Given the description of an element on the screen output the (x, y) to click on. 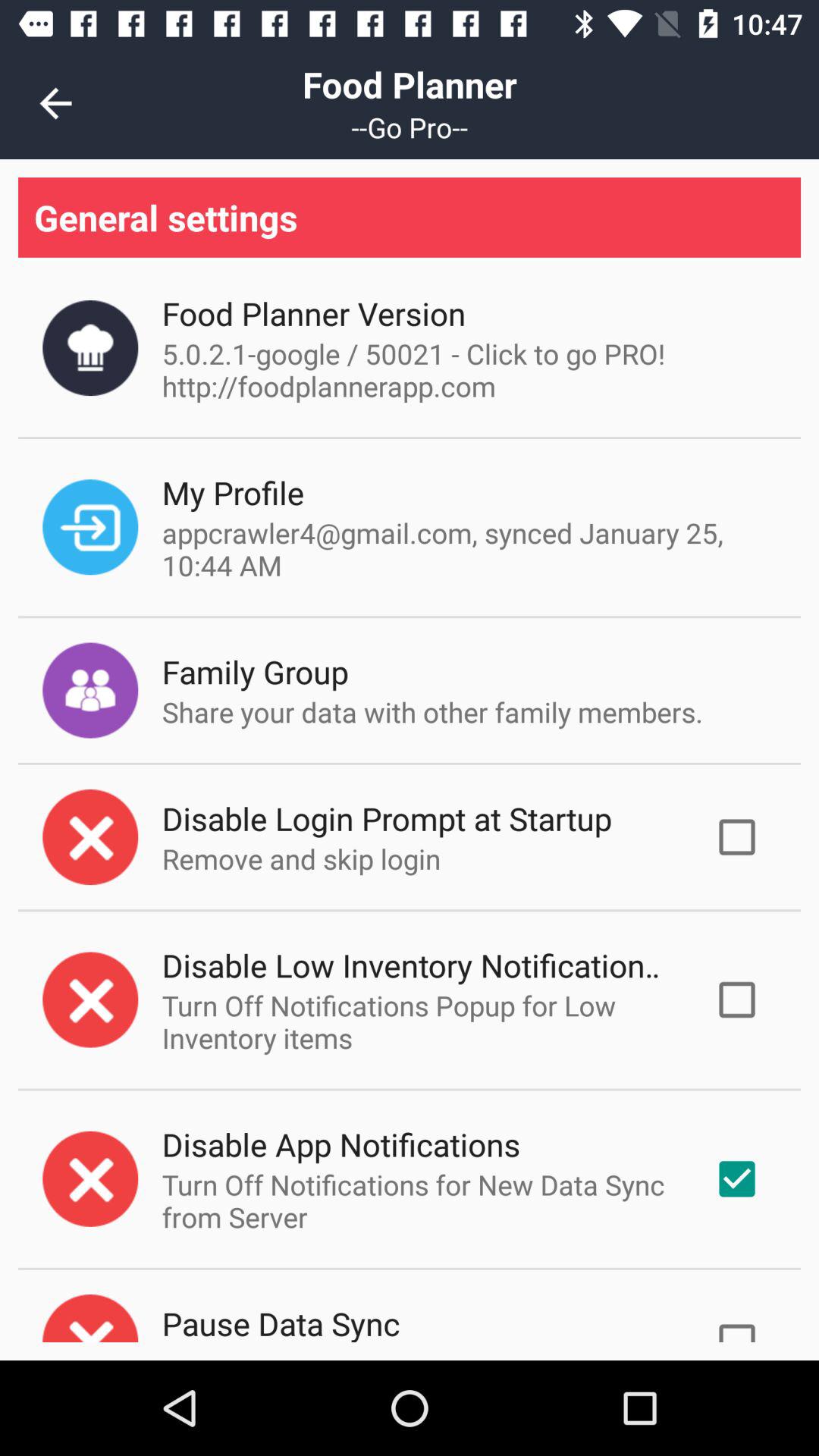
launch the item above disable low inventory icon (301, 858)
